Given the description of an element on the screen output the (x, y) to click on. 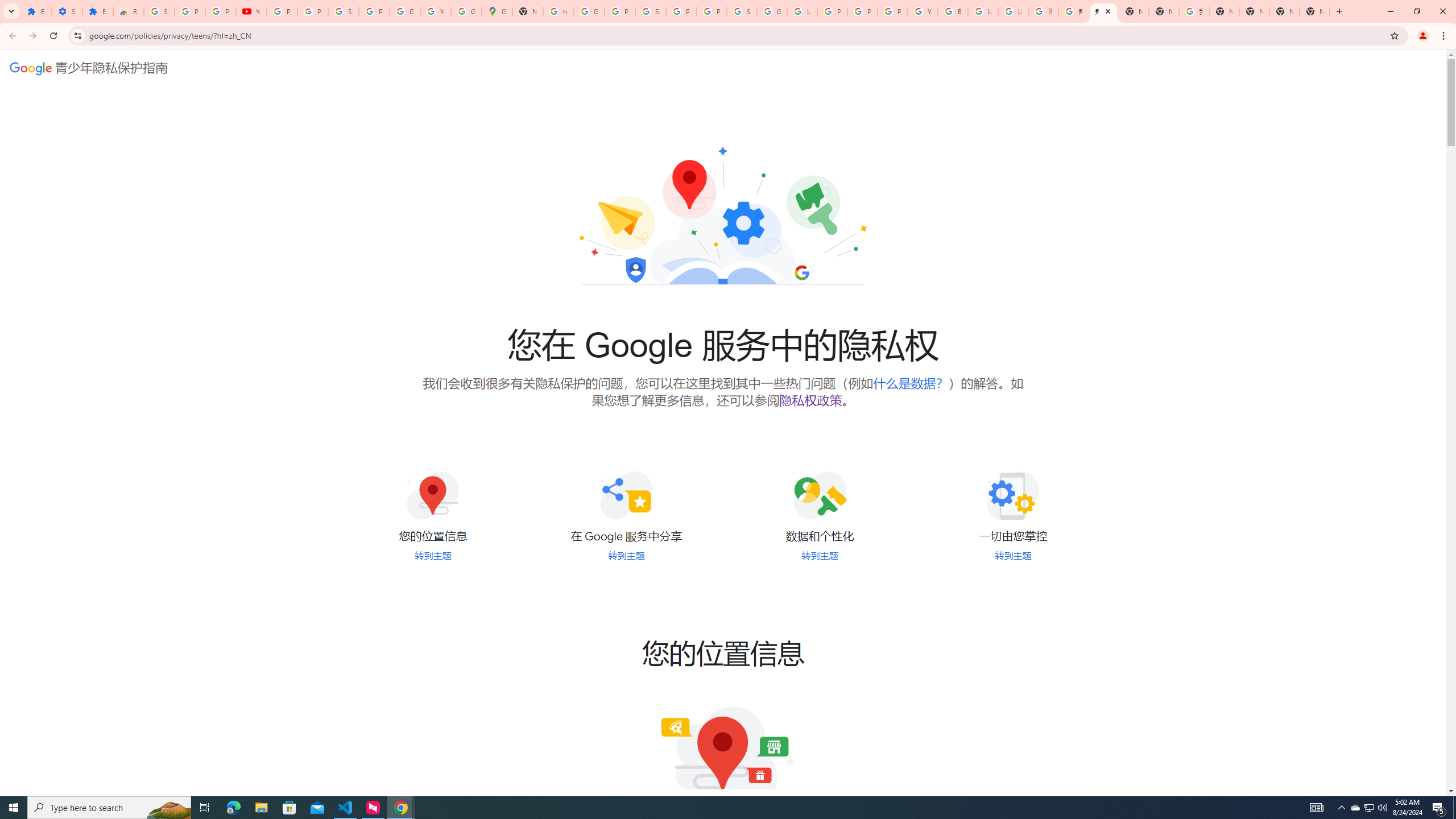
Sign in - Google Accounts (343, 11)
Extensions (97, 11)
Privacy Help Center - Policies Help (832, 11)
YouTube (922, 11)
